Given the description of an element on the screen output the (x, y) to click on. 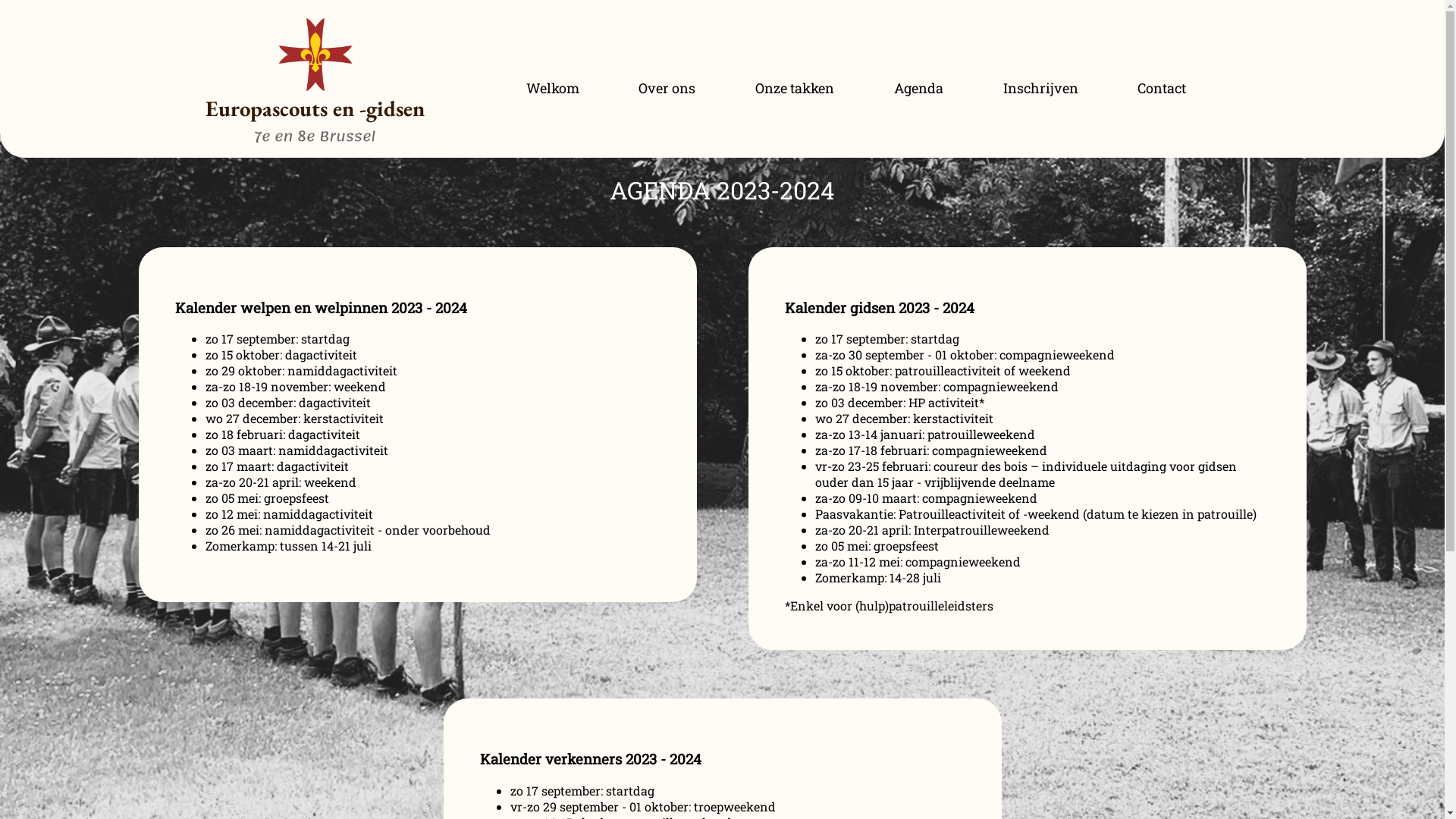
Over ons Element type: text (666, 88)
Agenda Element type: text (918, 88)
Contact Element type: text (1161, 88)
Europascouts en -gidsen
7e en 8e Brussel Element type: text (314, 117)
Onze takken Element type: text (794, 88)
Welkom Element type: text (552, 88)
Inschrijven Element type: text (1040, 88)
